Given the description of an element on the screen output the (x, y) to click on. 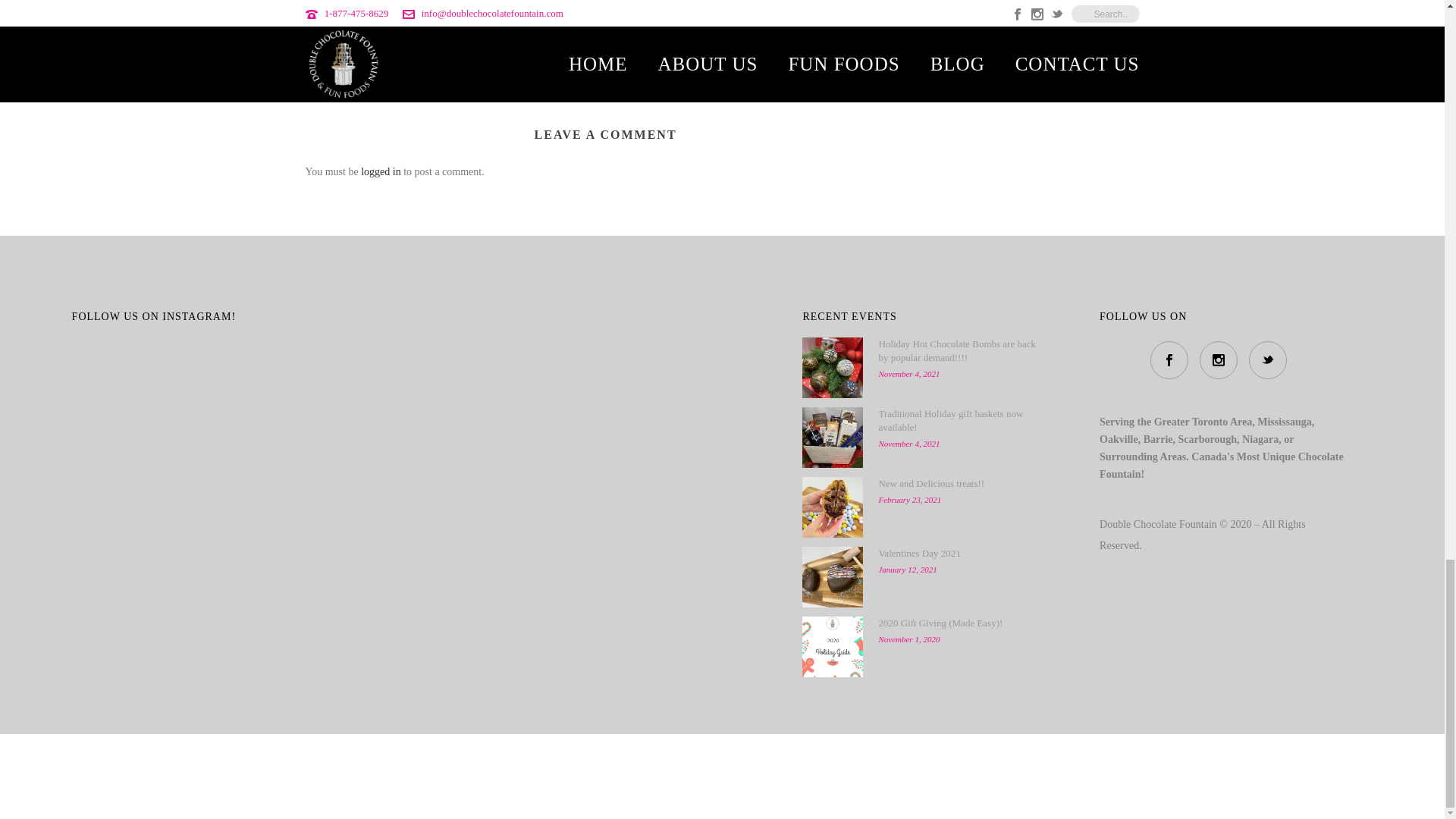
Valentines Day 2021 (832, 577)
New and Delicious treats!! (832, 506)
A RECAP OF AN EVENTFUL JUNE AT DCF (805, 26)
Holiday Hot Chocolate Bombs are back by popular demand!!!! (832, 367)
Follow Us on instagram (1218, 360)
Traditional Holiday gift baskets now available! (832, 437)
Introducing the SWEETSICLE by DCF! (408, 4)
COME CHILL WITH US THIS SUMMER! (607, 26)
INTRODUCING THE SWEETSICLE BY DCF! (408, 26)
A Recap of an Eventful June at DCF (805, 4)
Come Chill with us this Summer! (607, 4)
Follow Us on facebook (1169, 360)
